Given the description of an element on the screen output the (x, y) to click on. 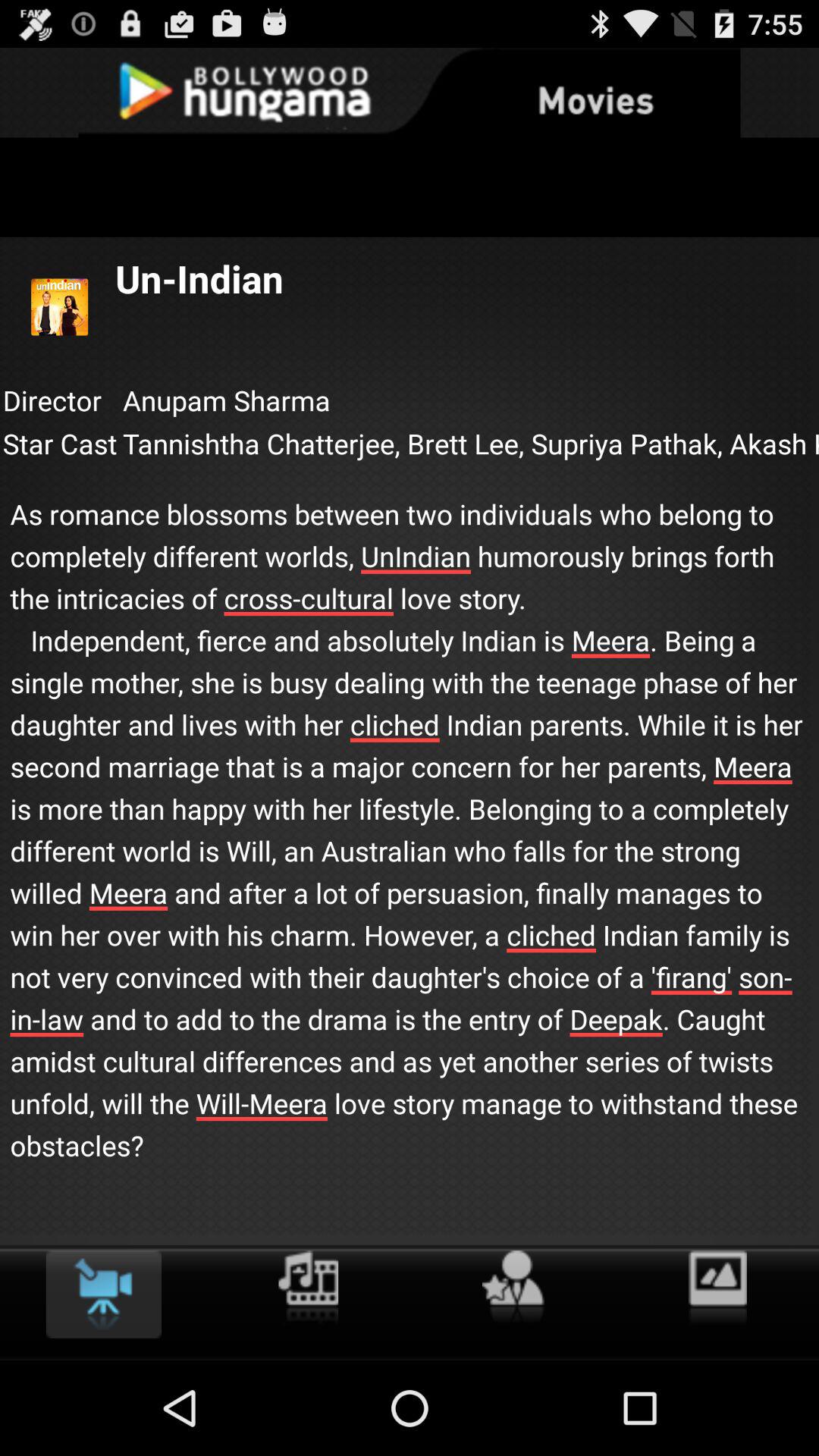
for music videos (307, 1287)
